Given the description of an element on the screen output the (x, y) to click on. 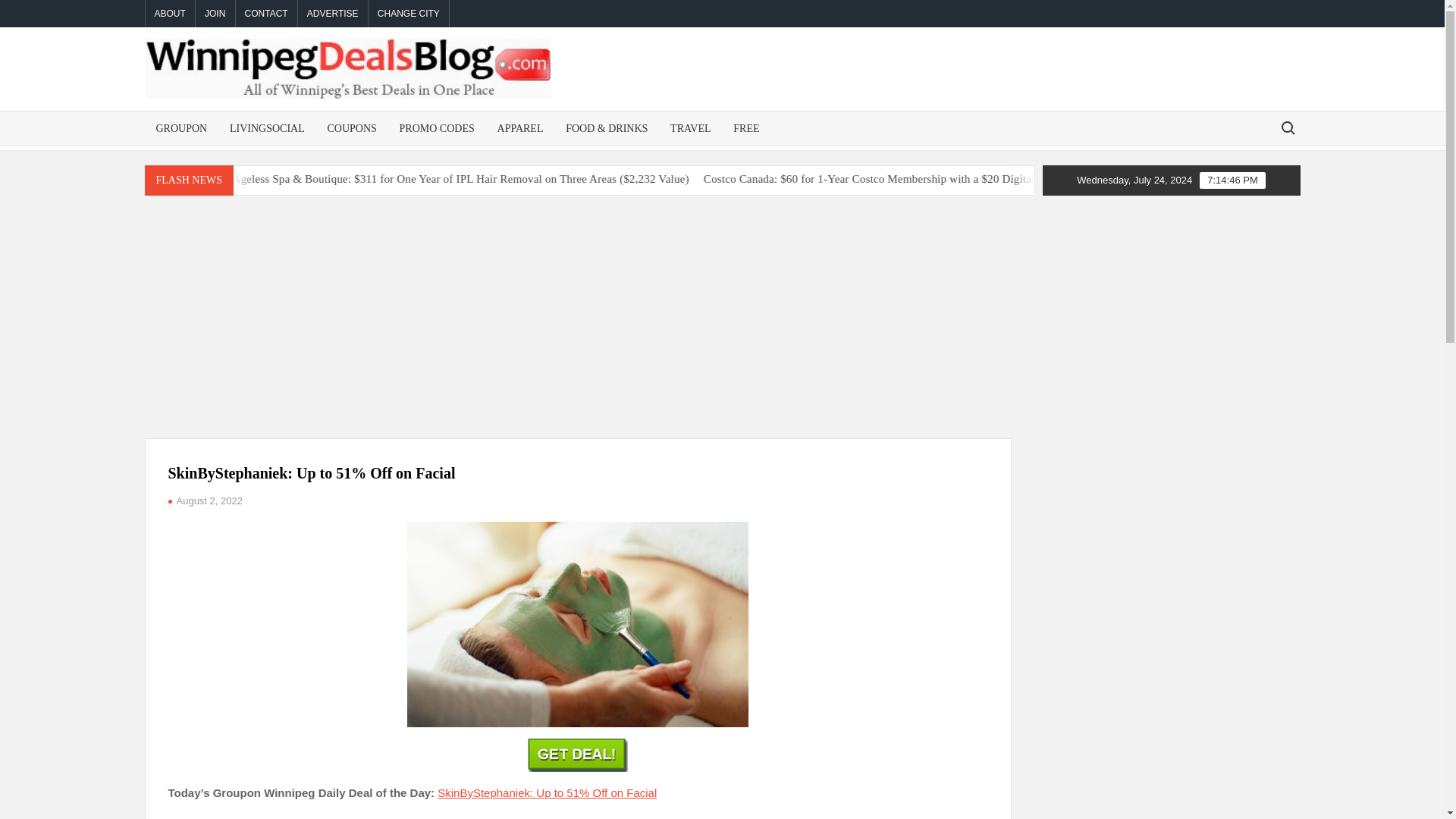
LIVINGSOCIAL (266, 128)
JOIN (214, 13)
COUPONS (351, 128)
ABOUT (170, 13)
WINNIPEG DEALS BLOG (641, 125)
Search for: (1287, 127)
CONTACT (266, 13)
APPAREL (520, 128)
CHANGE CITY (408, 13)
TRAVEL (690, 128)
PROMO CODES (437, 128)
FREE (746, 128)
ADVERTISE (333, 13)
GROUPON (181, 128)
